Given the description of an element on the screen output the (x, y) to click on. 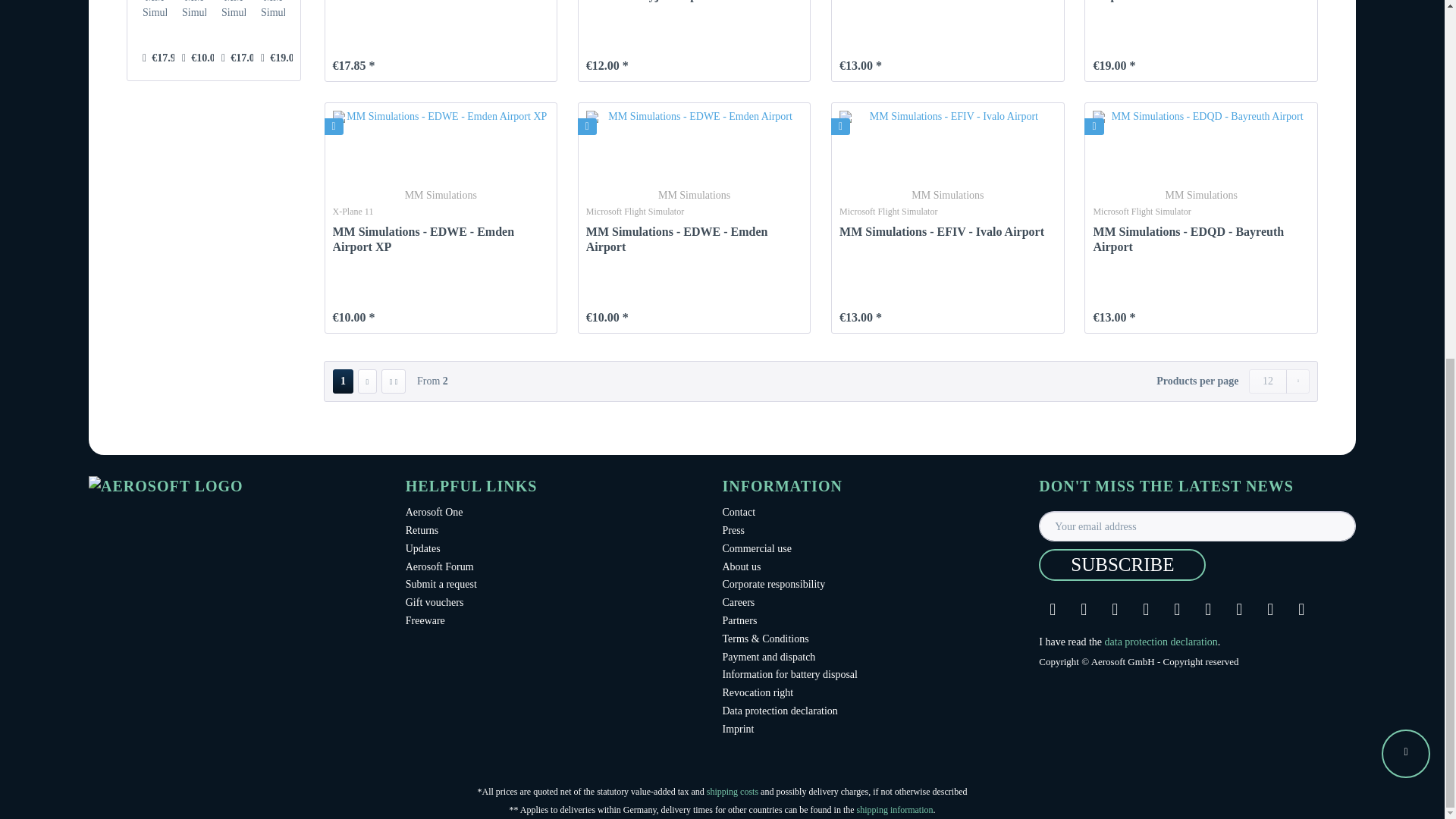
MM Simulations - EDWE - Emden Airport (194, 10)
MM Simulations - EYVI - Vilnius International... (154, 10)
